Given the description of an element on the screen output the (x, y) to click on. 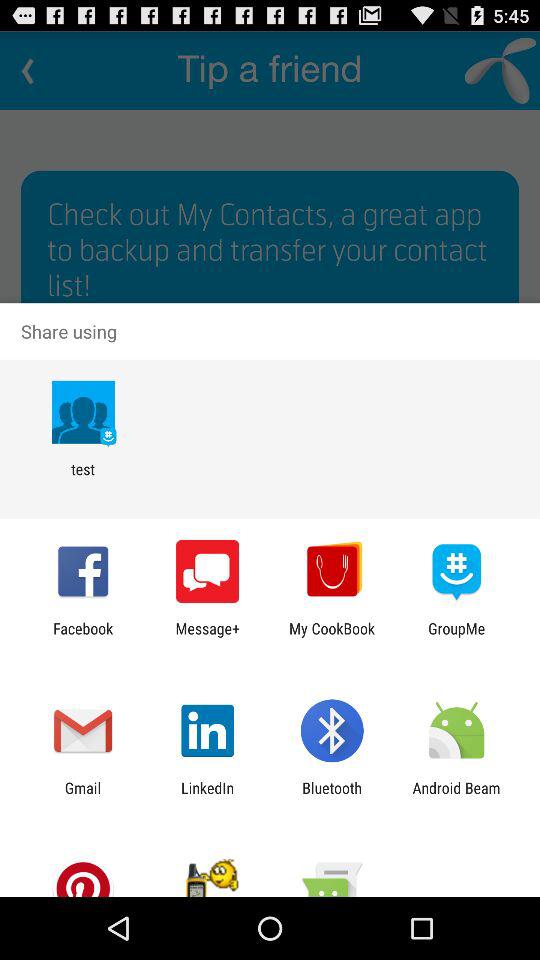
scroll until gmail (82, 796)
